Given the description of an element on the screen output the (x, y) to click on. 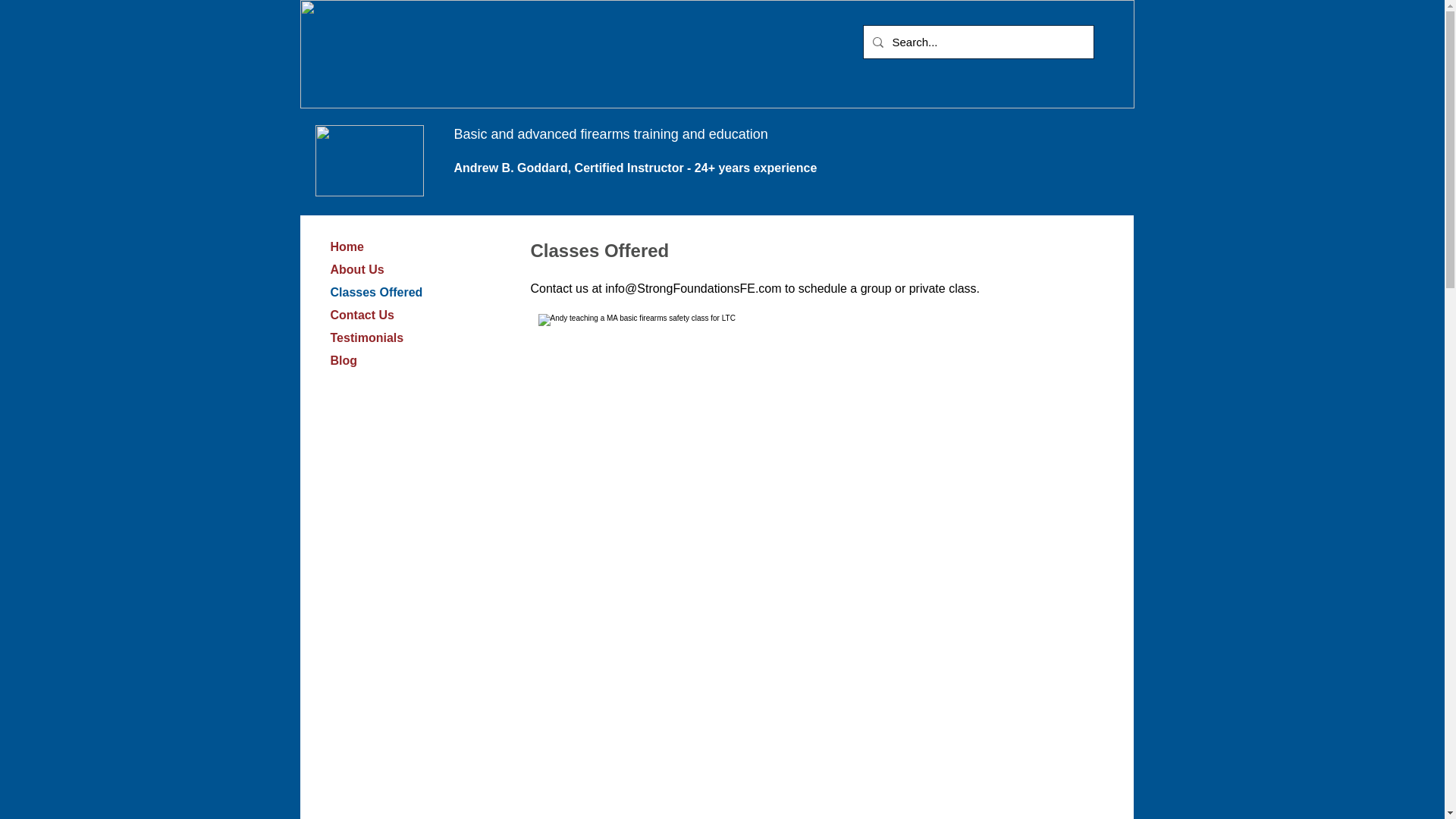
About Us (357, 269)
Classes Offered (376, 291)
Contact Us (362, 314)
Home (347, 246)
Testimonials (367, 337)
Blog (344, 360)
